Given the description of an element on the screen output the (x, y) to click on. 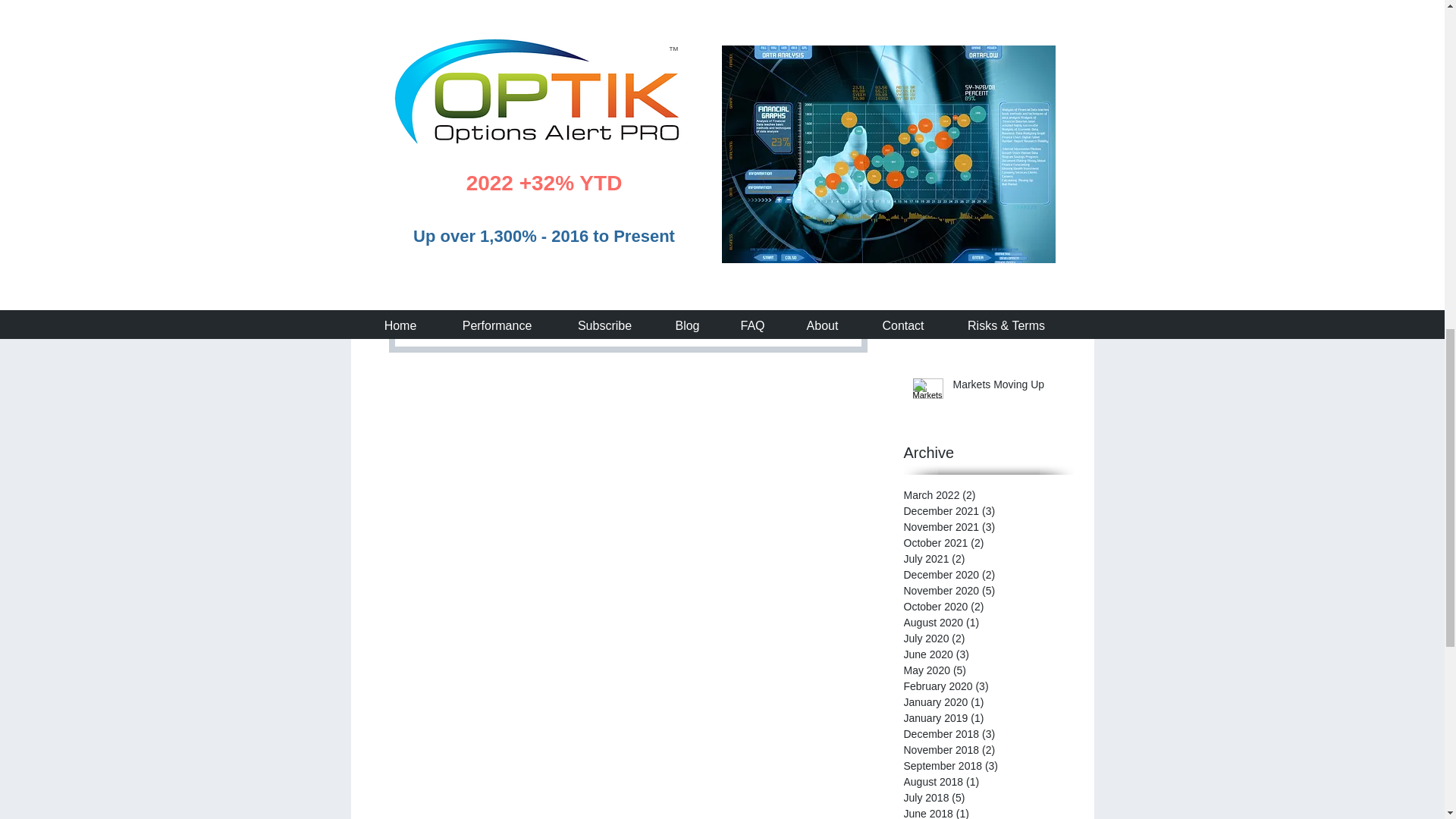
Markets Moving Up (1008, 387)
Higher Interest Rates send Tech Stocks Down (1008, 154)
Fed news release tomorrow at 2pm.  (617, 10)
Is Santa Coming to Town? (1008, 2)
Moving on Up - It's a chess game (1008, 230)
Big Tech Earnings on Deck (1008, 312)
Post not marked as liked (828, 236)
Facebook's dilemma over giving user data away! (683, 42)
Covid Mutation Omicron Tanks Markets (1008, 67)
fear of a trade war (621, 34)
